Given the description of an element on the screen output the (x, y) to click on. 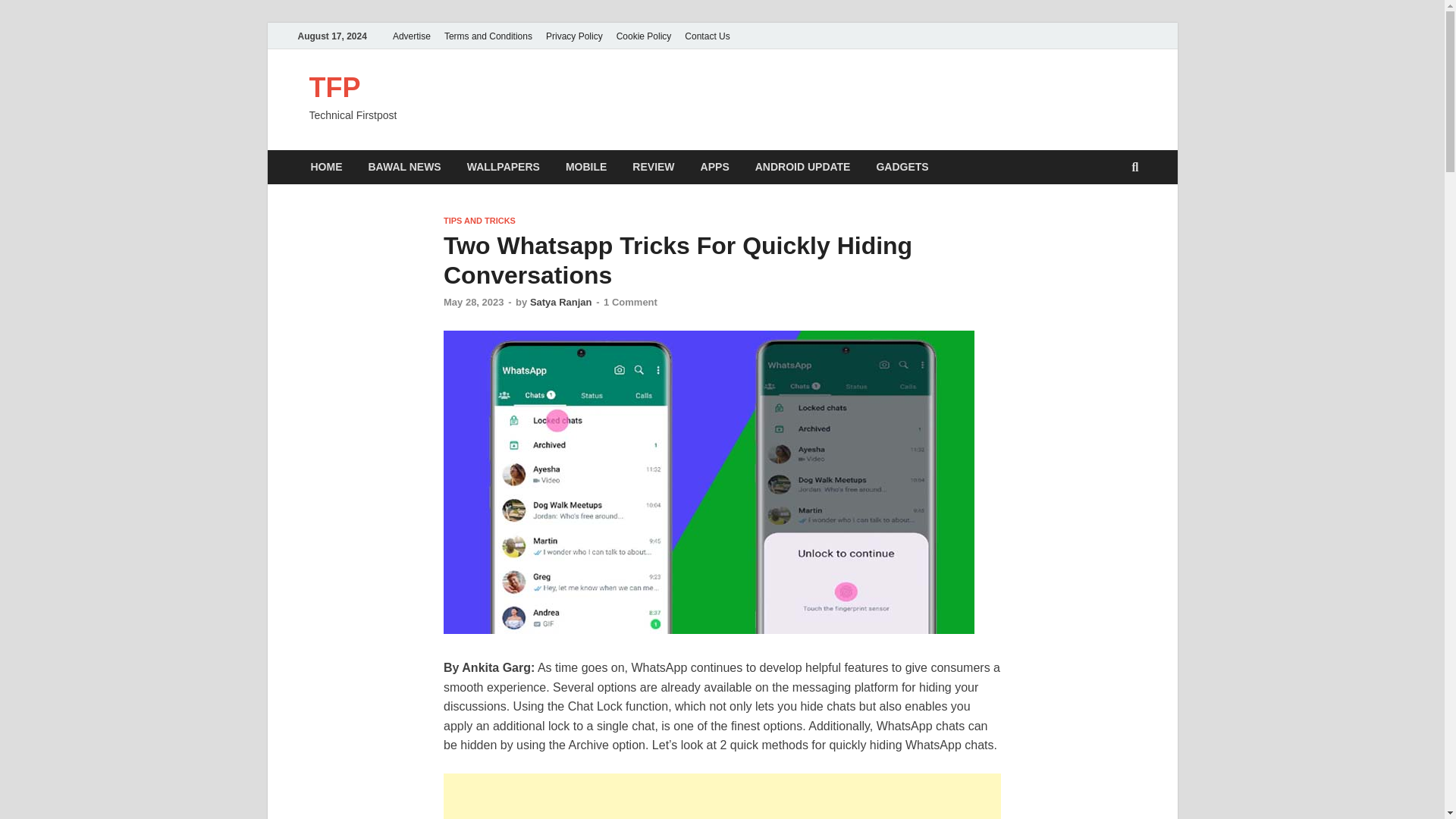
TFP (334, 87)
TIPS AND TRICKS (479, 220)
Satya Ranjan (560, 301)
REVIEW (653, 166)
1 Comment (631, 301)
Advertise (411, 35)
Cookie Policy (644, 35)
Privacy Policy (574, 35)
WALLPAPERS (503, 166)
May 28, 2023 (473, 301)
